Given the description of an element on the screen output the (x, y) to click on. 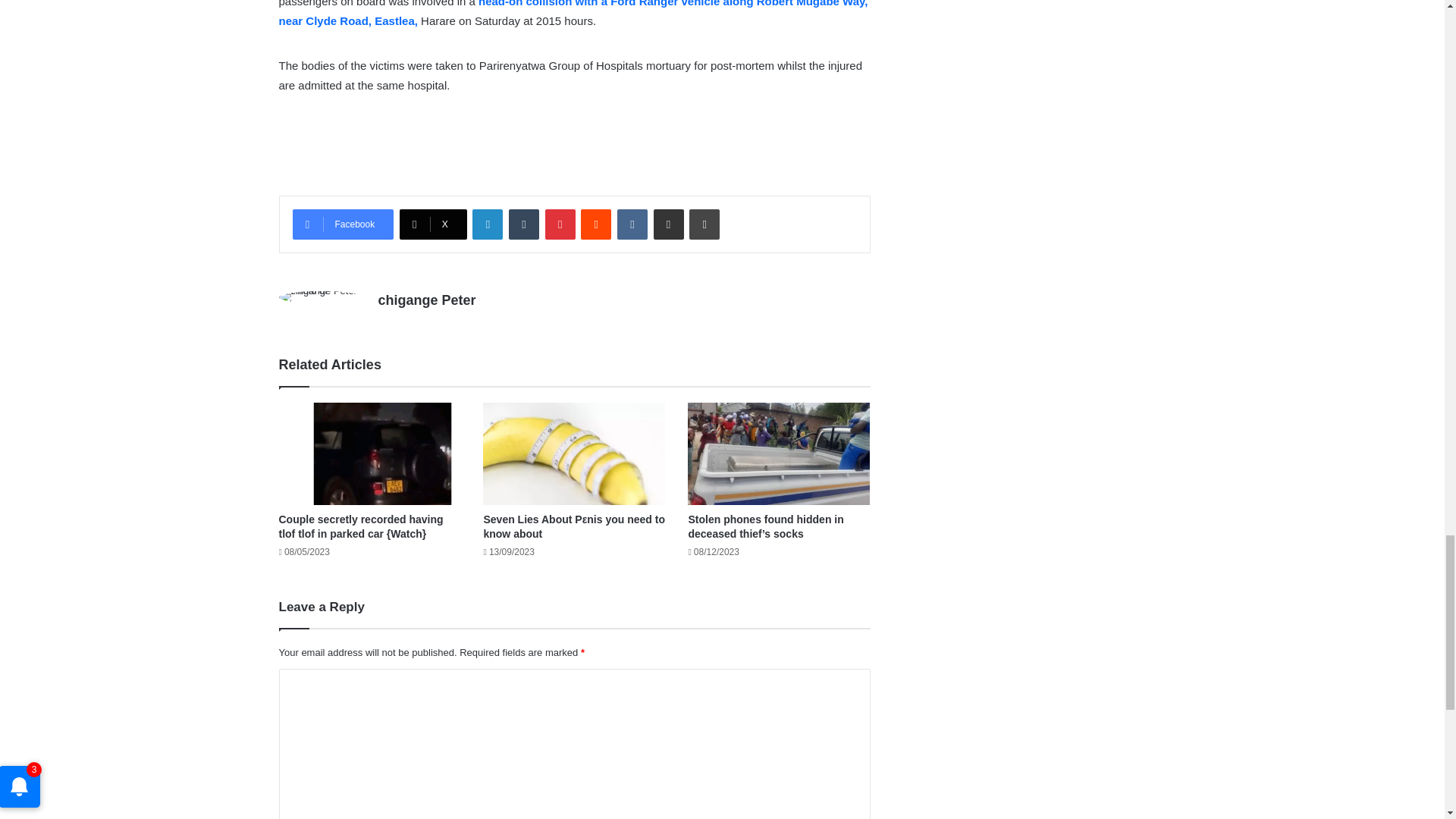
Facebook (343, 224)
Facebook (343, 224)
X (432, 224)
Pinterest (559, 224)
LinkedIn (486, 224)
Tumblr (523, 224)
Pinterest (559, 224)
Share via Email (668, 224)
X (432, 224)
Print (703, 224)
Tumblr (523, 224)
VKontakte (632, 224)
chigange Peter (426, 299)
Reddit (595, 224)
